Given the description of an element on the screen output the (x, y) to click on. 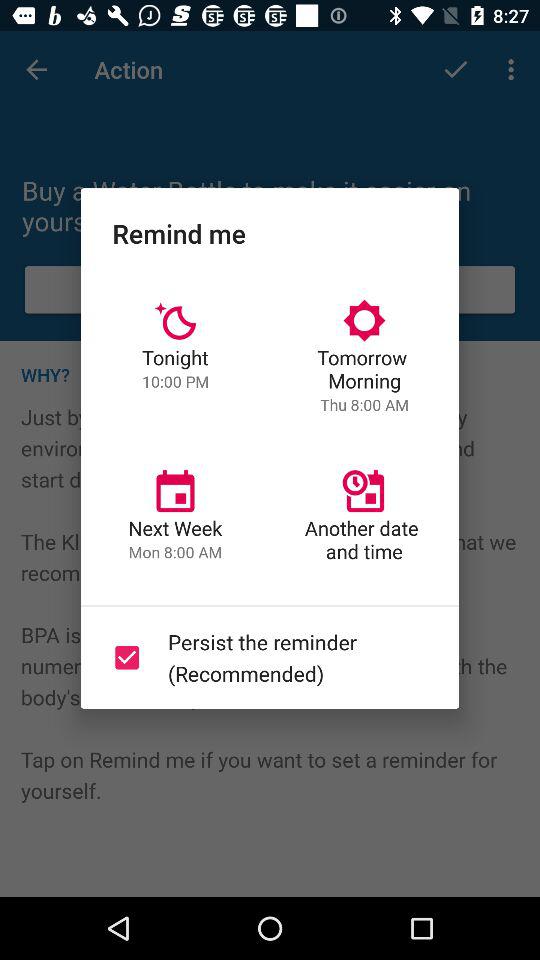
press the persist the reminder item (265, 657)
